Given the description of an element on the screen output the (x, y) to click on. 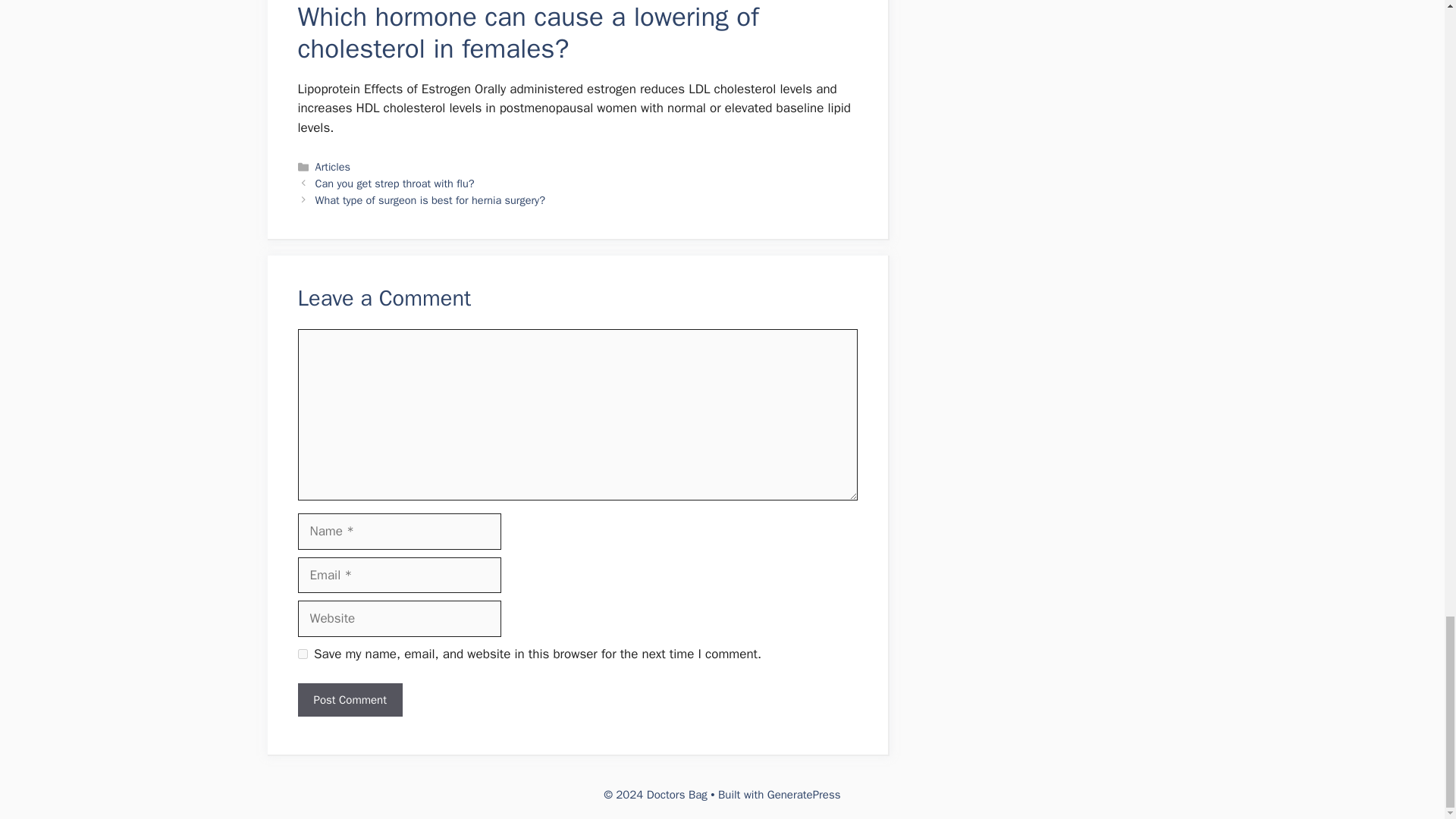
Post Comment (349, 700)
Can you get strep throat with flu? (394, 183)
yes (302, 654)
Articles (332, 166)
What type of surgeon is best for hernia surgery? (429, 200)
GeneratePress (804, 794)
Post Comment (349, 700)
